Given the description of an element on the screen output the (x, y) to click on. 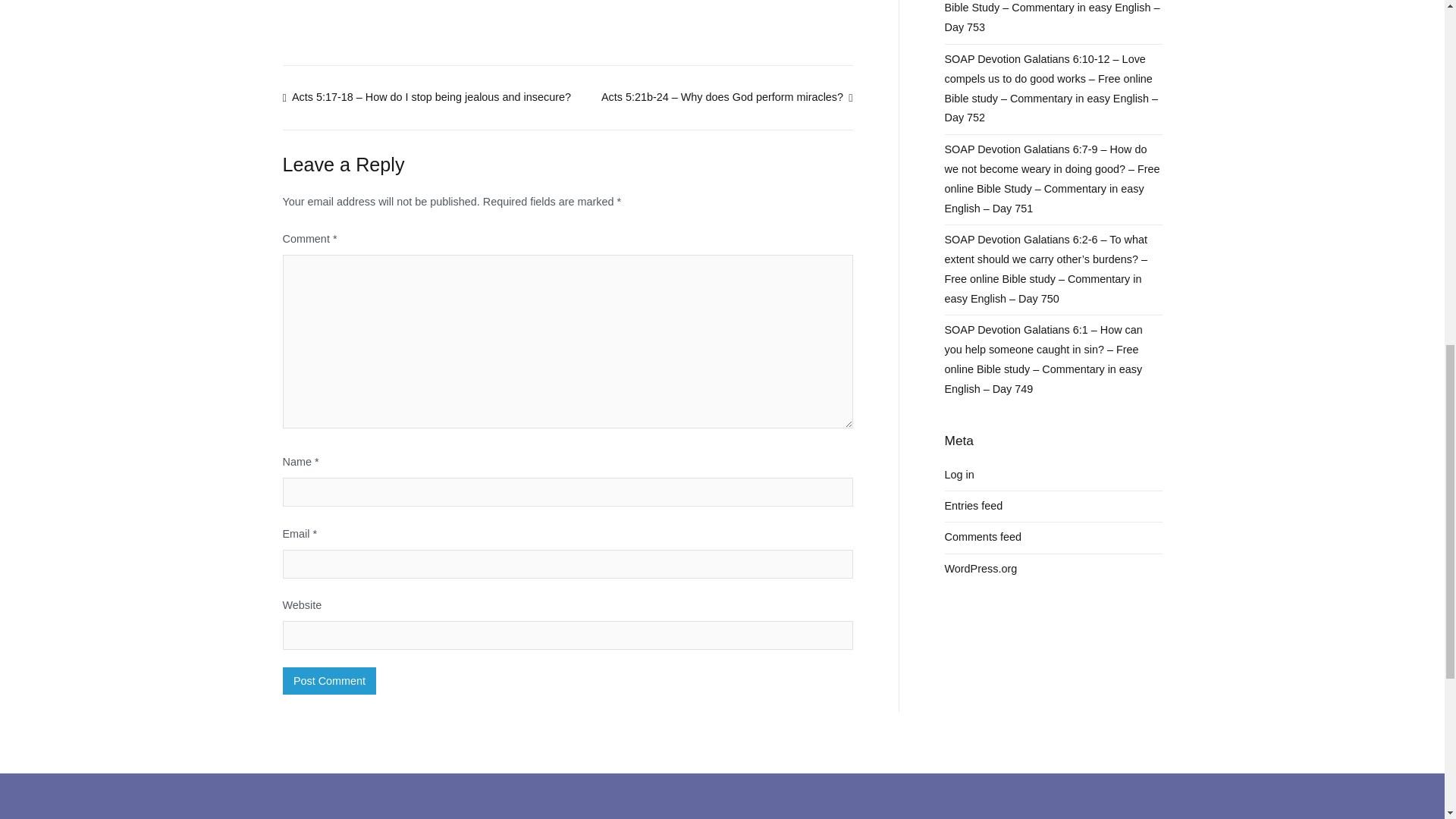
Post Comment (328, 680)
Post Comment (328, 680)
WordPress.org (980, 568)
Entries feed (973, 506)
Comments feed (983, 537)
Log in (959, 475)
